Given the description of an element on the screen output the (x, y) to click on. 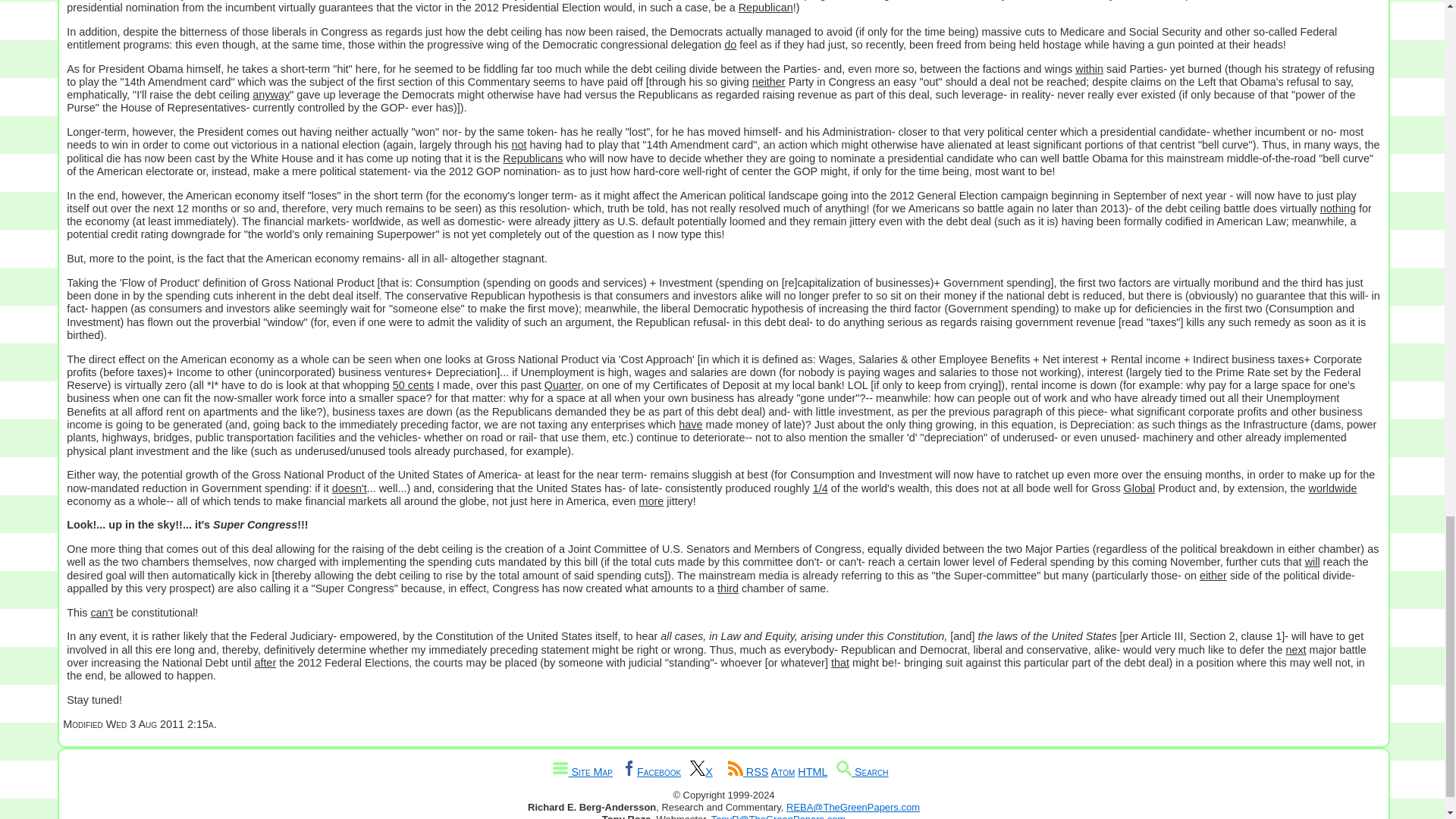
Atom (782, 771)
Site Map (582, 771)
RSS (748, 771)
Facebook (651, 771)
X (701, 771)
Search (861, 771)
HTML (812, 771)
